Given the description of an element on the screen output the (x, y) to click on. 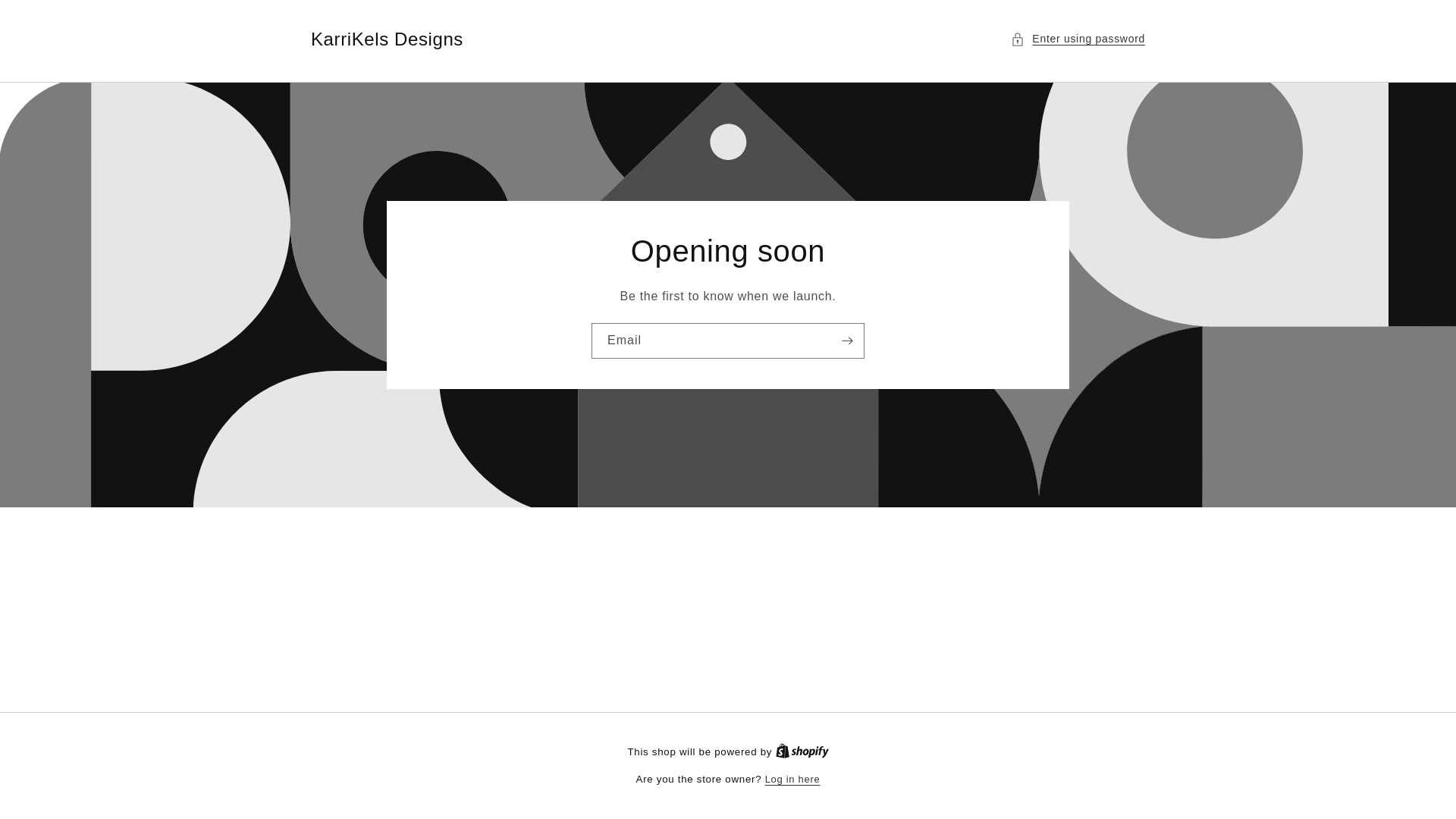
Log in here (793, 779)
Skip to content (45, 17)
